Given the description of an element on the screen output the (x, y) to click on. 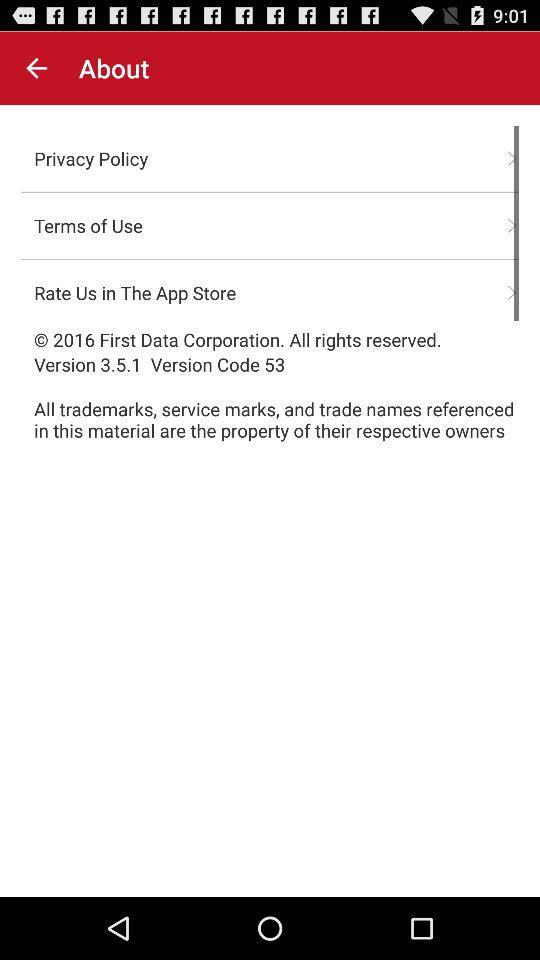
tap the icon to the left of the about icon (36, 68)
